Given the description of an element on the screen output the (x, y) to click on. 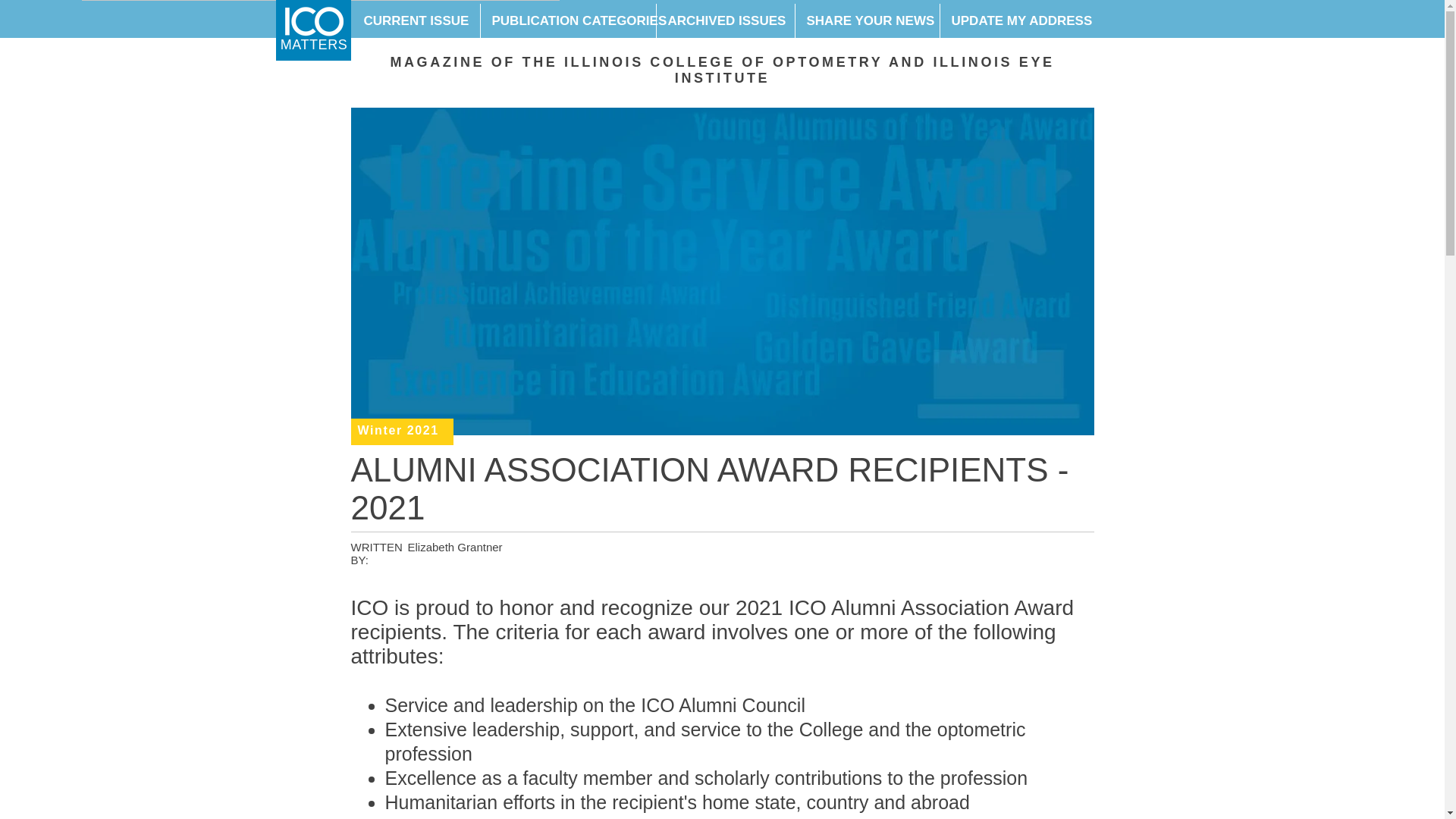
CURRENT ISSUE (415, 21)
UPDATE MY ADDRESS (1015, 21)
SHARE YOUR NEWS (866, 21)
ARCHIVED ISSUES (724, 21)
